Given the description of an element on the screen output the (x, y) to click on. 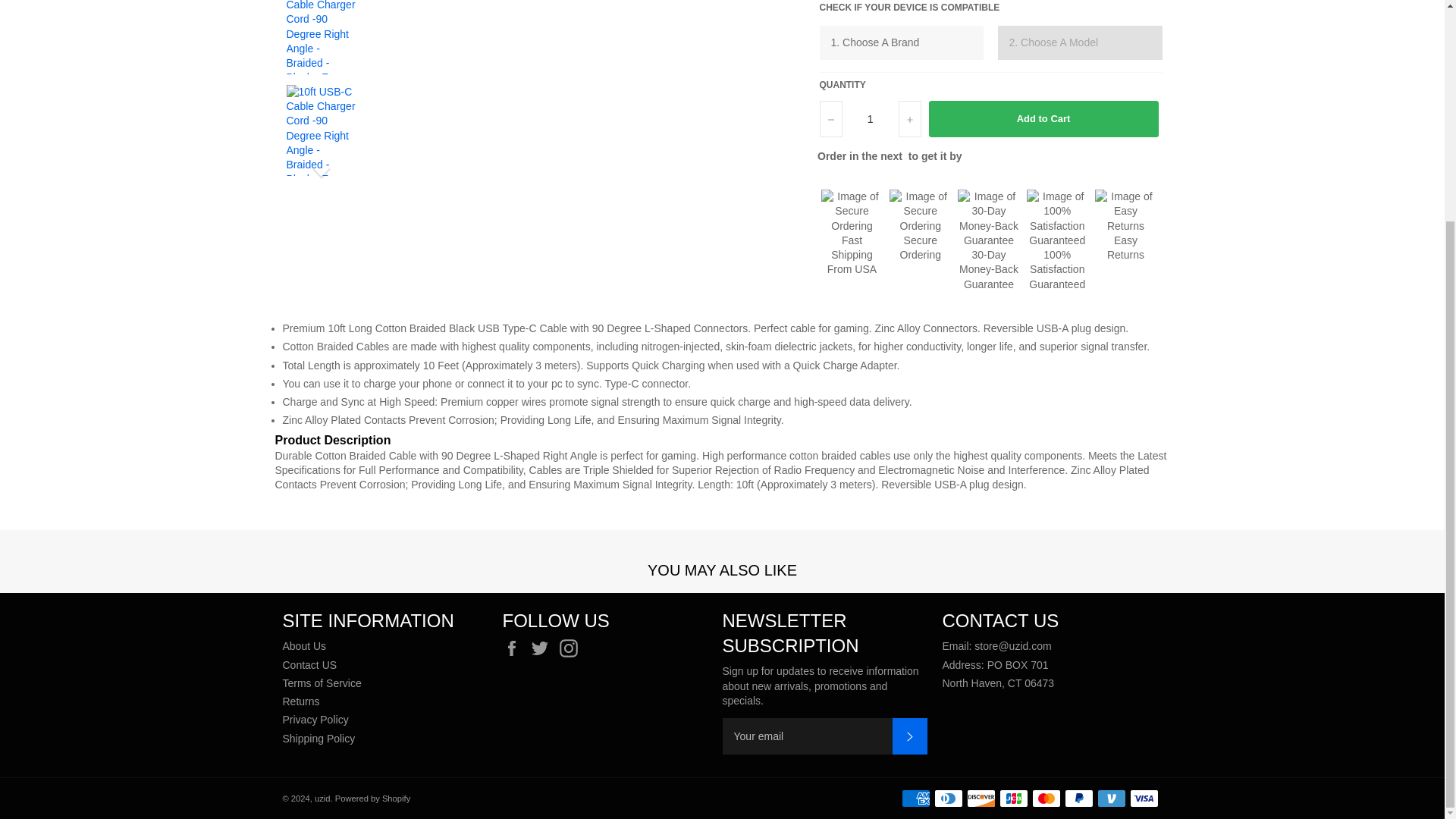
PayPal (1078, 798)
Mastercard (1044, 798)
Venmo (1110, 798)
Visa (1143, 798)
1 (869, 118)
uzid on Facebook (514, 648)
American Express (915, 798)
uzid on Instagram (572, 648)
Discover (980, 798)
Diners Club (948, 798)
